Given the description of an element on the screen output the (x, y) to click on. 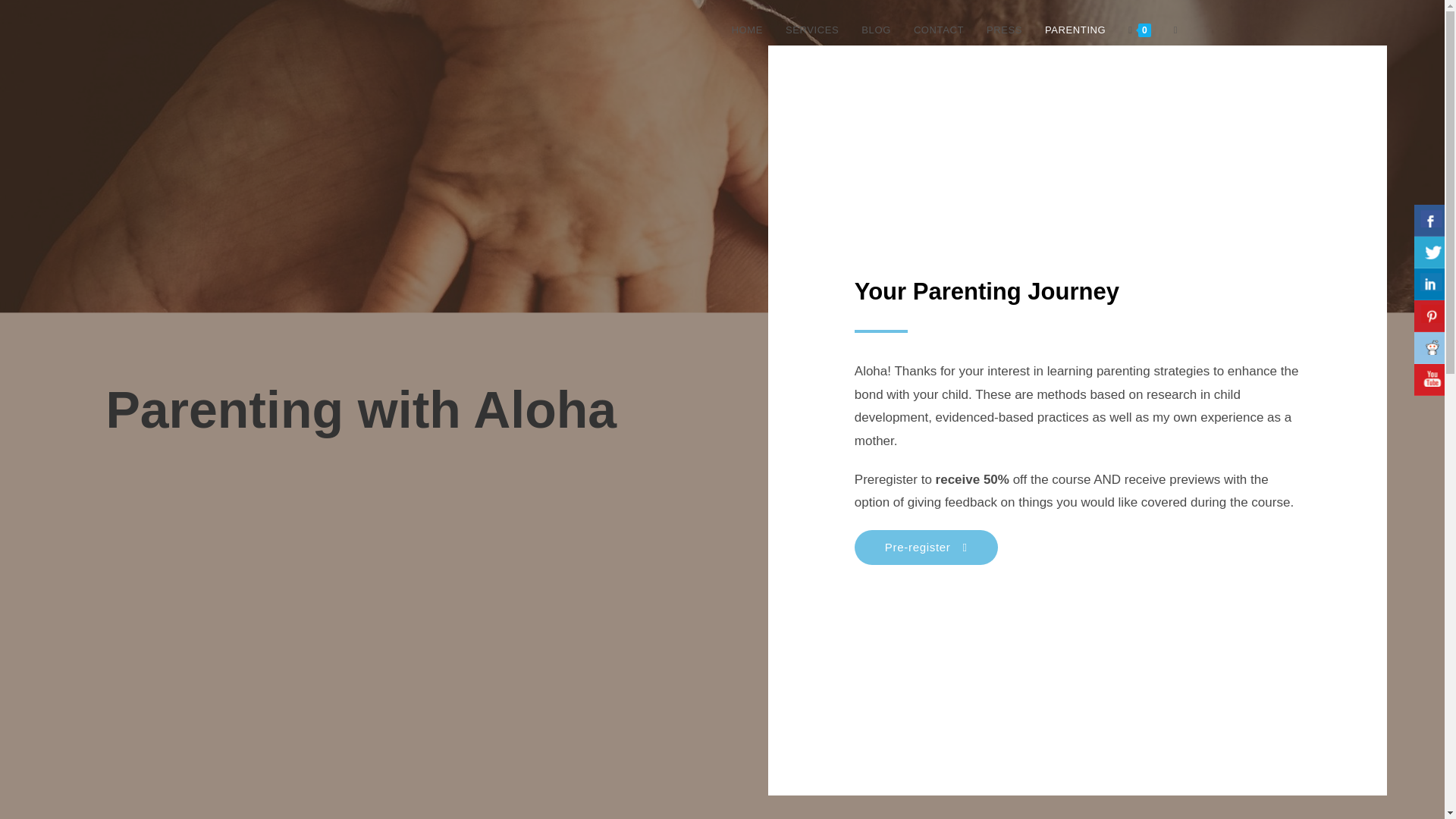
SERVICES (812, 30)
PARENTING (1074, 30)
Services (578, 767)
BLOG (876, 30)
HOME (747, 30)
Contact (689, 767)
Blog (634, 767)
CONTACT (938, 30)
Parenting (810, 767)
Home (517, 767)
